Given the description of an element on the screen output the (x, y) to click on. 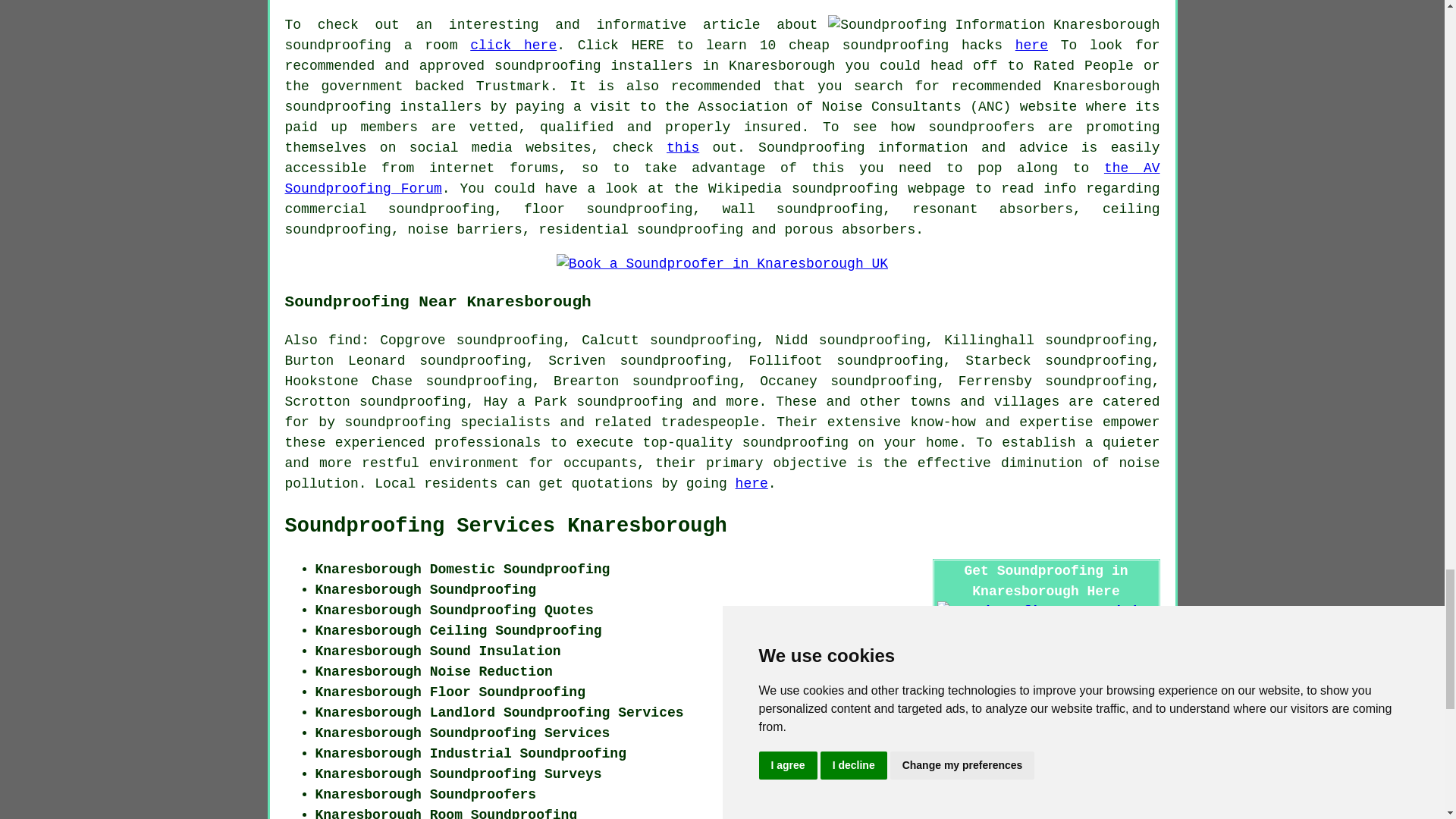
Book a Soundproofer in Knaresborough UK (722, 263)
soundproofing specialists (446, 421)
noise pollution (722, 473)
Soundproofing Advice Knaresborough (993, 25)
